Given the description of an element on the screen output the (x, y) to click on. 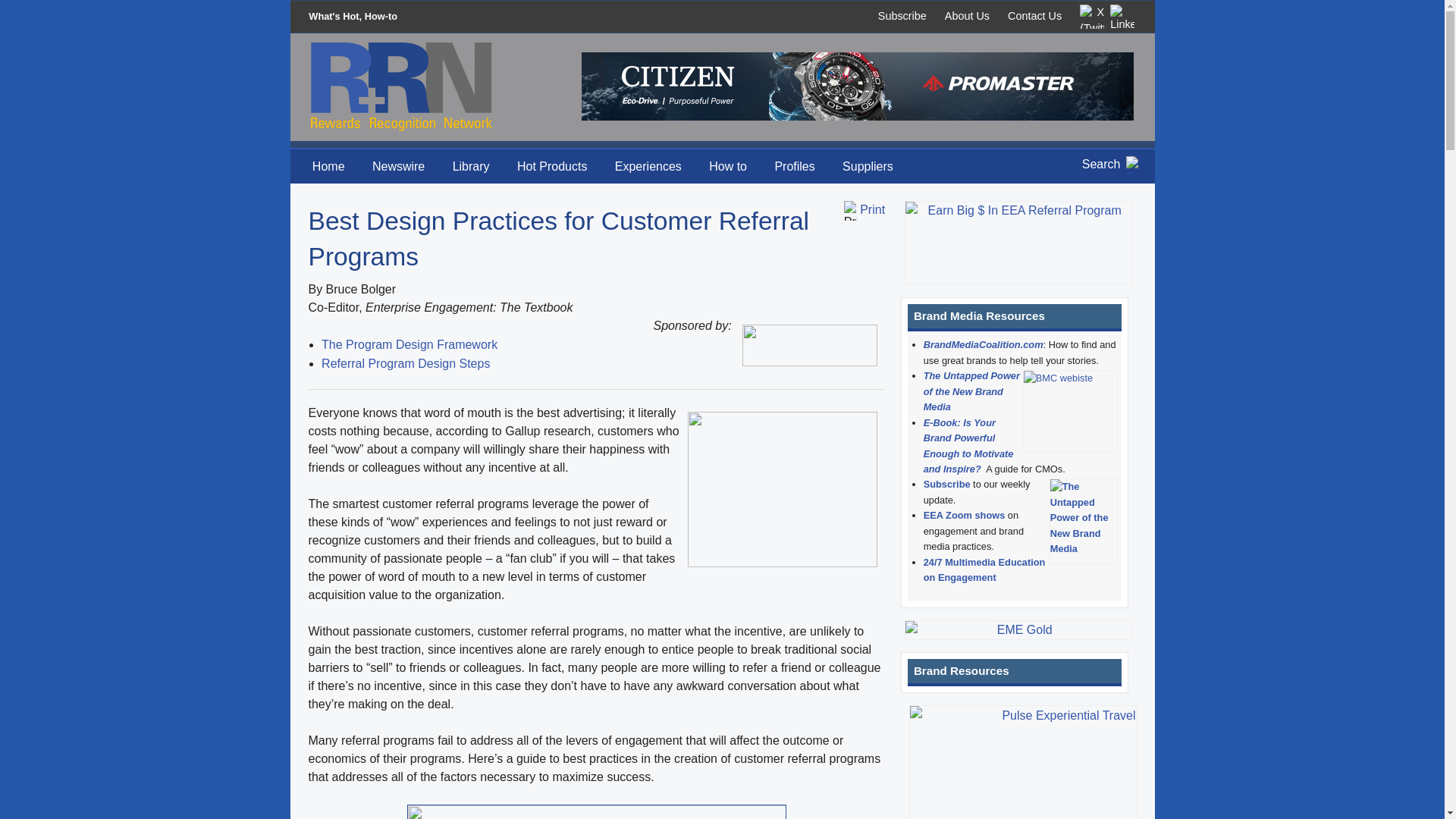
BrandMediaCoalition.com (983, 344)
Home (328, 166)
Hot Products (551, 166)
Profiles (793, 166)
Print (872, 209)
Experiences (648, 166)
Subscribe (901, 15)
Newswire (398, 166)
About Us (967, 15)
Suppliers (867, 166)
